Given the description of an element on the screen output the (x, y) to click on. 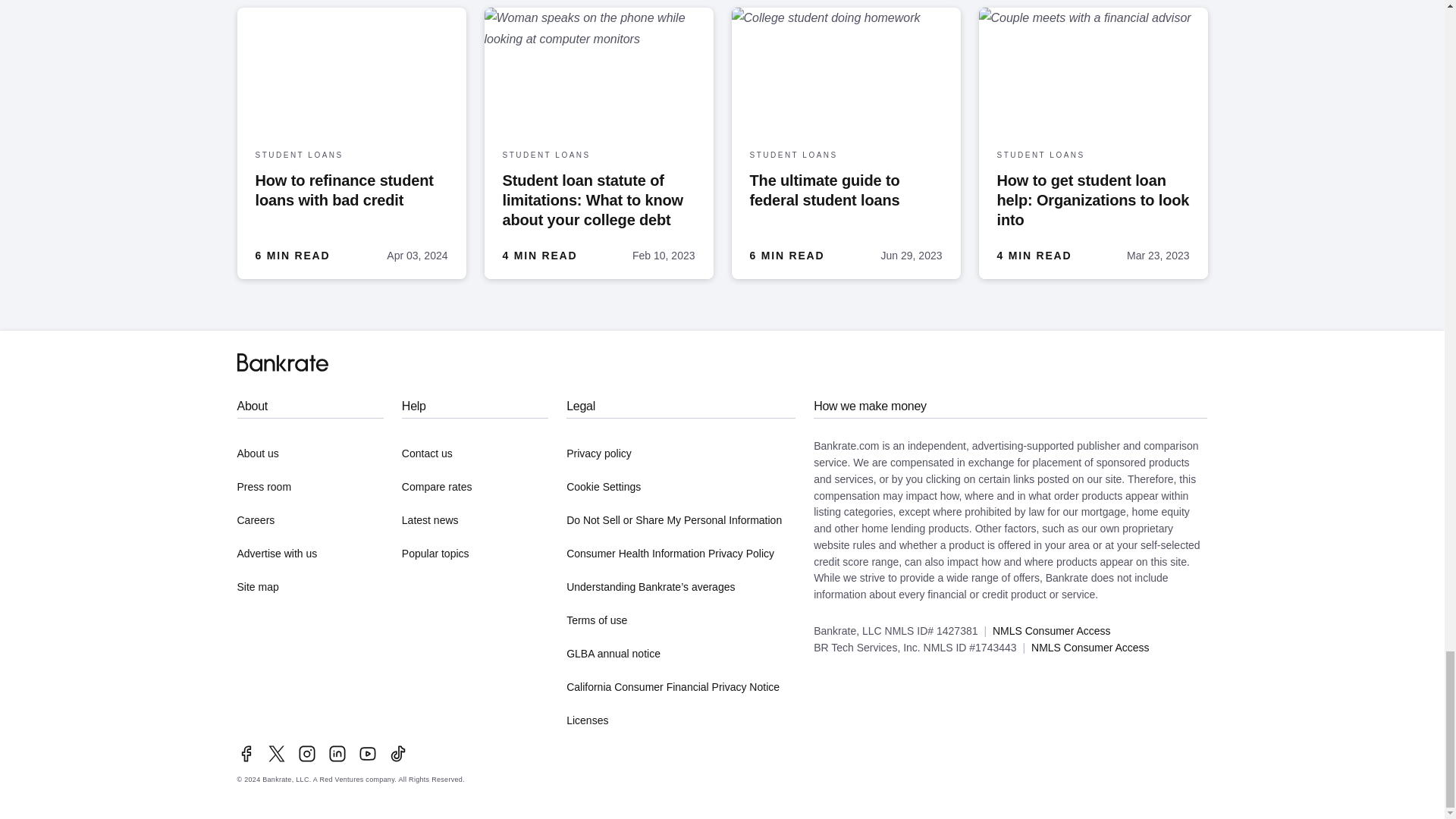
Bankrate (281, 361)
Instagram logo (306, 753)
Facebook logo (244, 753)
Youtube (366, 753)
LinkedIn (336, 753)
YouTube logo (366, 753)
Tiktok (397, 753)
Twitter (275, 753)
Facebook (244, 753)
LinkedIn logo (336, 753)
TikTok logo (397, 753)
Twitter logo (275, 753)
Instagram (306, 753)
